Given the description of an element on the screen output the (x, y) to click on. 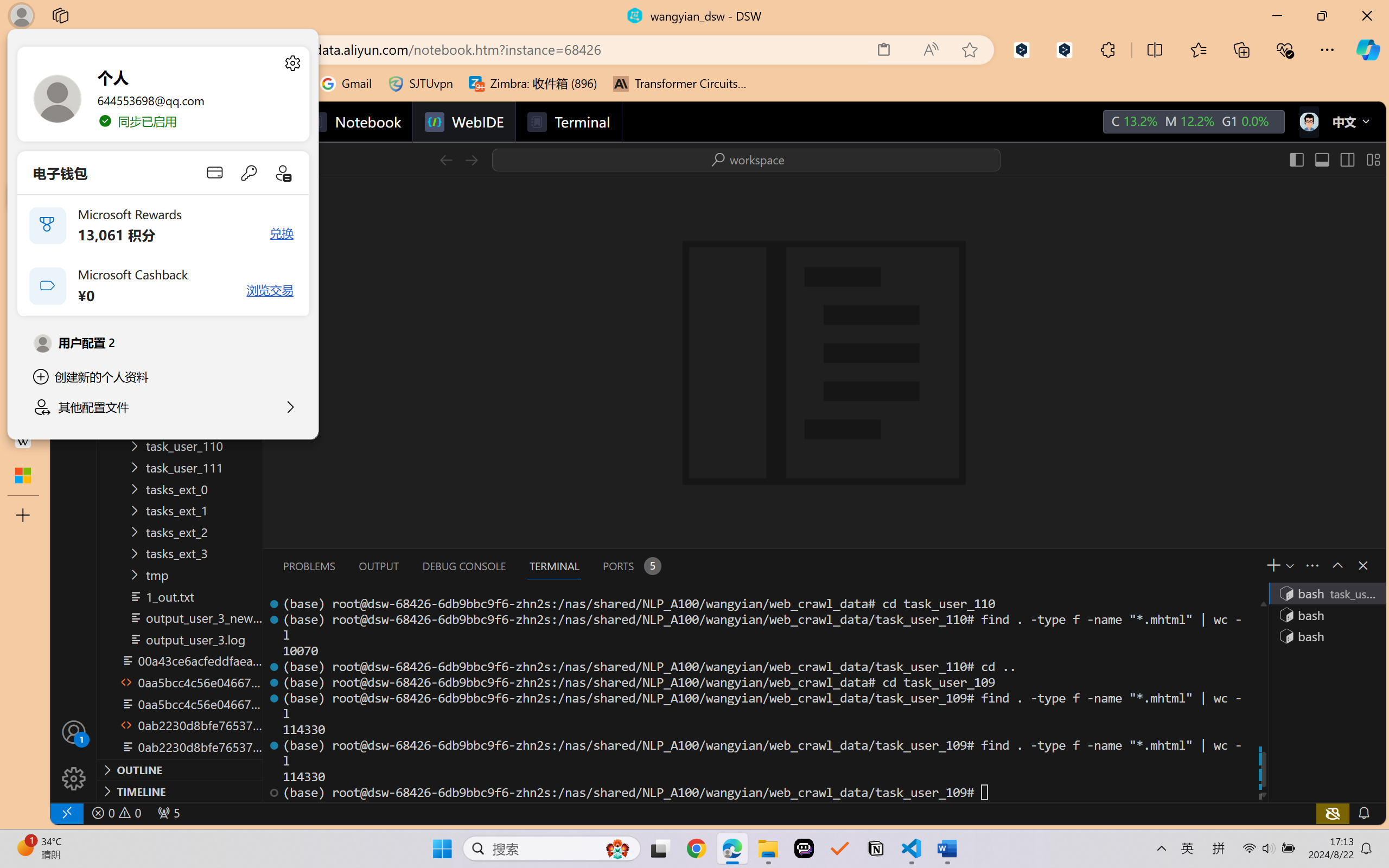
Manage (73, 778)
Toggle Panel (Ctrl+J) (1320, 159)
Terminal (Ctrl+`) (553, 565)
Toggle Secondary Side Bar (Ctrl+Alt+B) (1347, 159)
Debug Console (Ctrl+Shift+Y) (463, 565)
copilot-notconnected, Copilot error (click for details) (1331, 812)
icon (1308, 119)
